Given the description of an element on the screen output the (x, y) to click on. 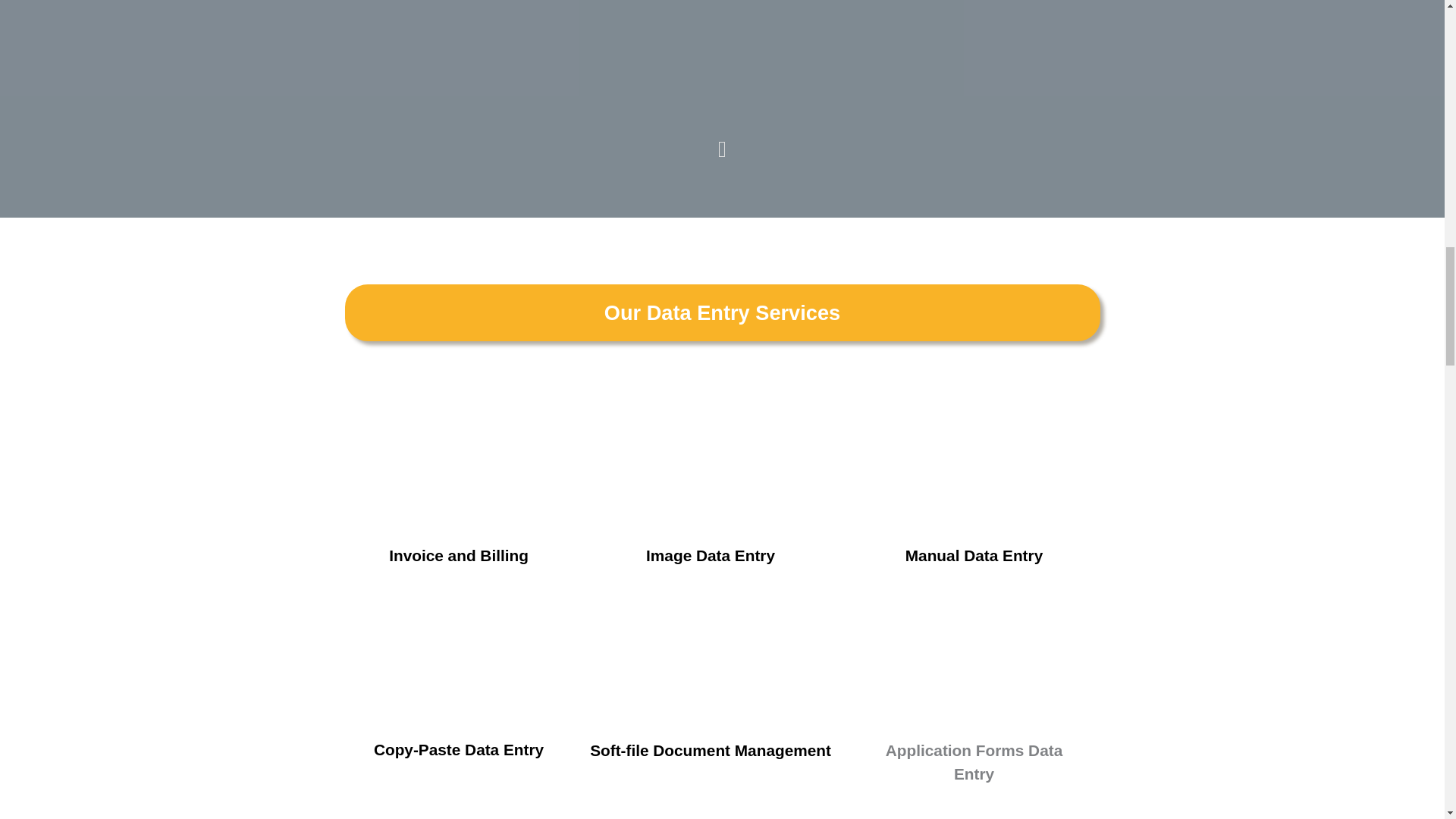
application form (973, 652)
Invoice (458, 457)
soft-file (710, 652)
Manual (973, 457)
Image (710, 457)
copy-paste (458, 652)
